Given the description of an element on the screen output the (x, y) to click on. 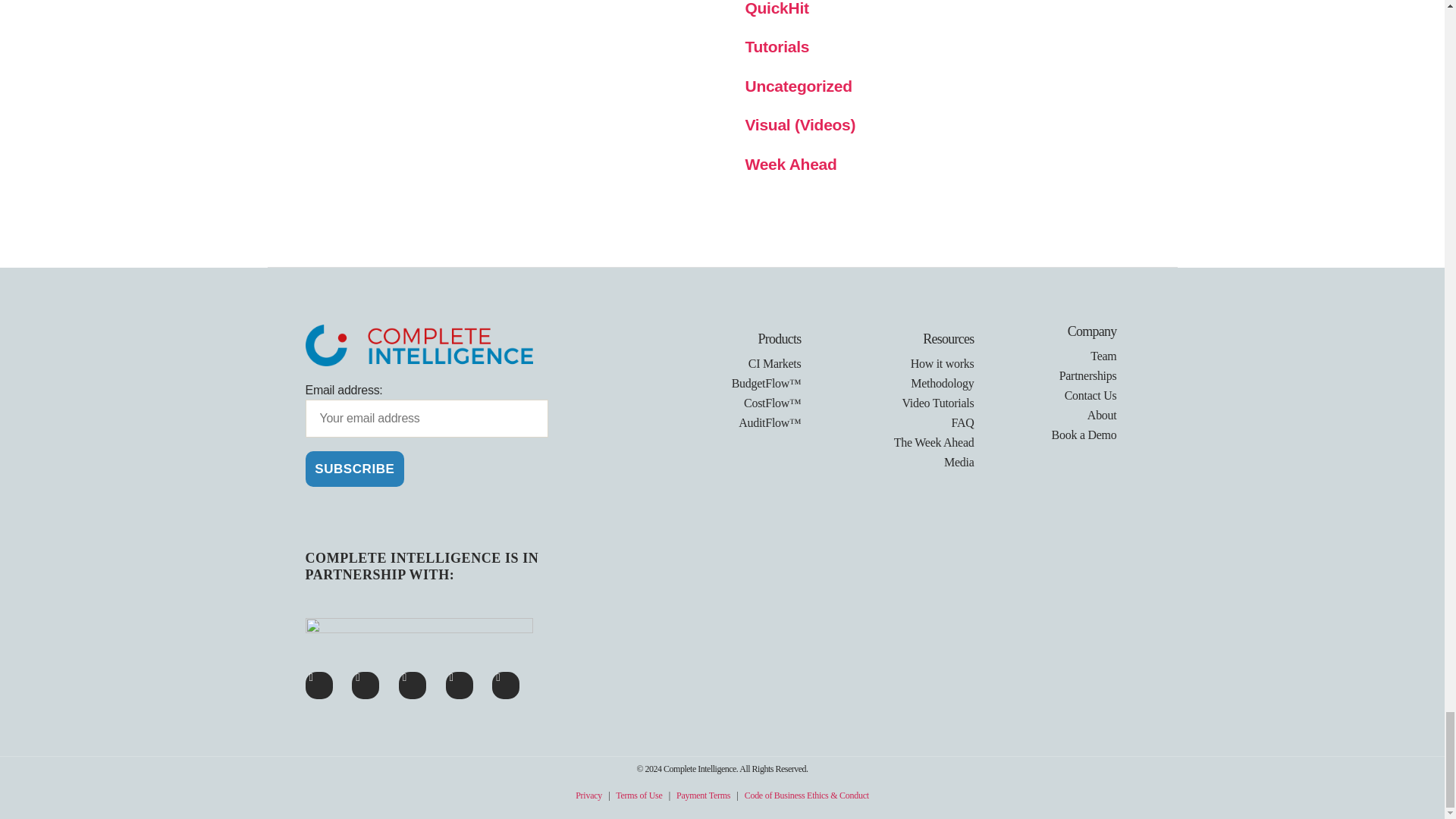
Subscribe (354, 468)
